Given the description of an element on the screen output the (x, y) to click on. 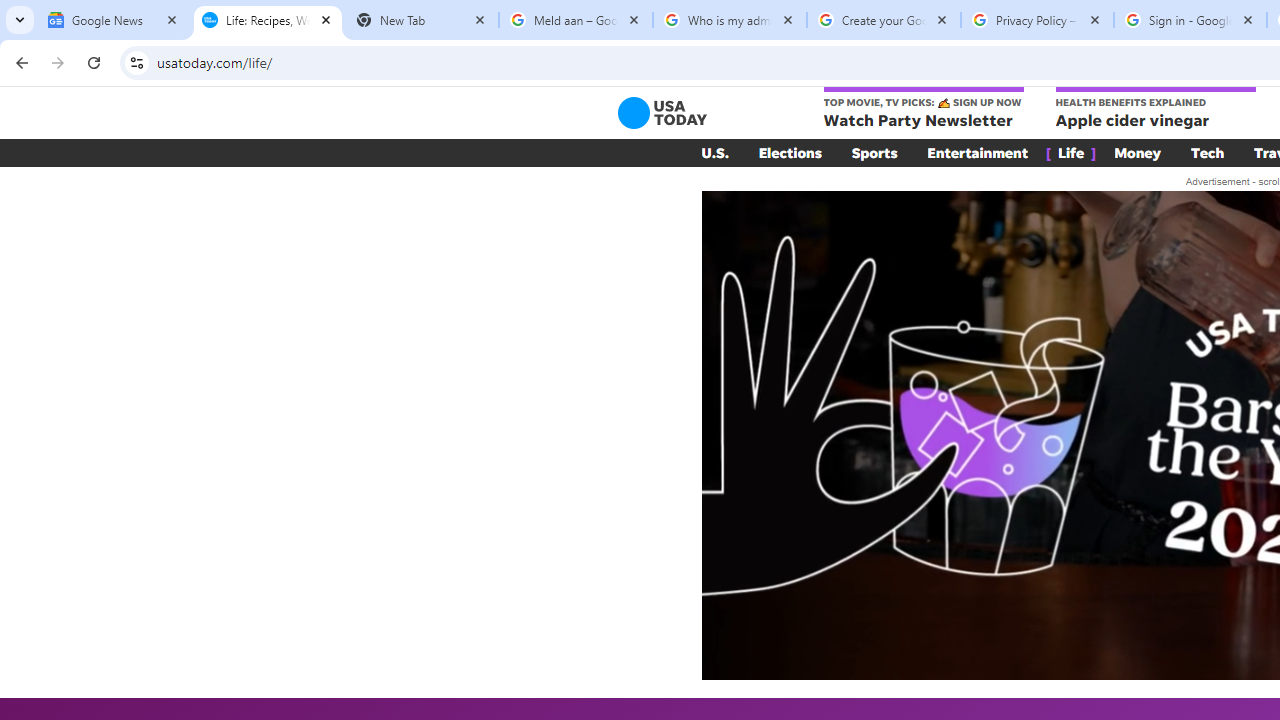
U.S. (714, 152)
Sign in - Google Accounts (1190, 20)
Tech (1207, 152)
USA TODAY (661, 112)
[ Life ] (1071, 152)
Google News (113, 20)
Who is my administrator? - Google Account Help (729, 20)
Entertainment (977, 152)
New Tab (421, 20)
